Given the description of an element on the screen output the (x, y) to click on. 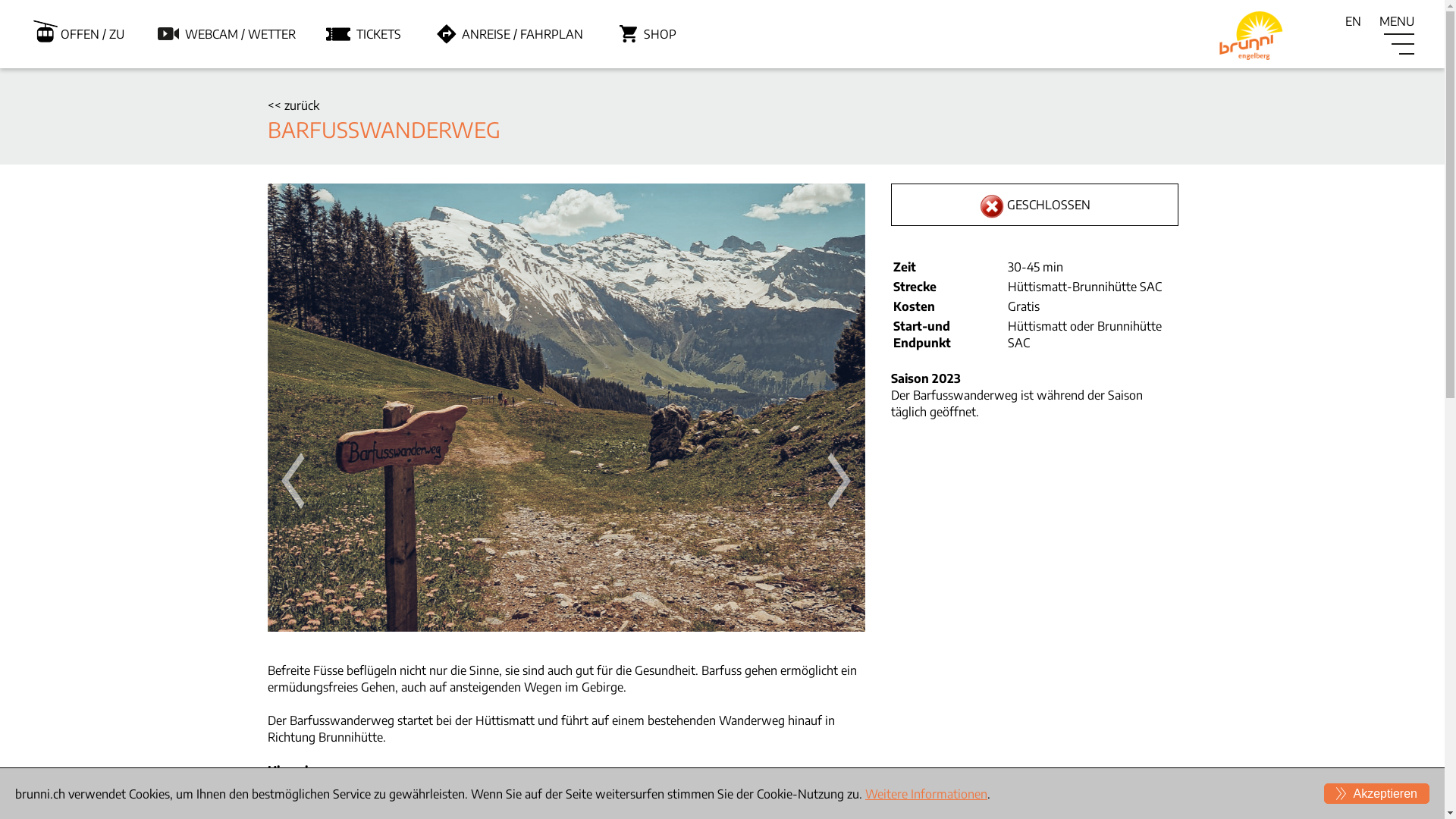
Akzeptieren Element type: text (1377, 793)
Weitere Informationen Element type: text (926, 792)
OFFEN / ZU Element type: text (92, 33)
Previous Element type: text (290, 480)
SHOP Element type: text (659, 33)
TICKETS Element type: text (378, 33)
ANREISE / FAHRPLAN Element type: text (522, 33)
Next Element type: text (841, 480)
WEBCAM / WETTER Element type: text (240, 33)
